Given the description of an element on the screen output the (x, y) to click on. 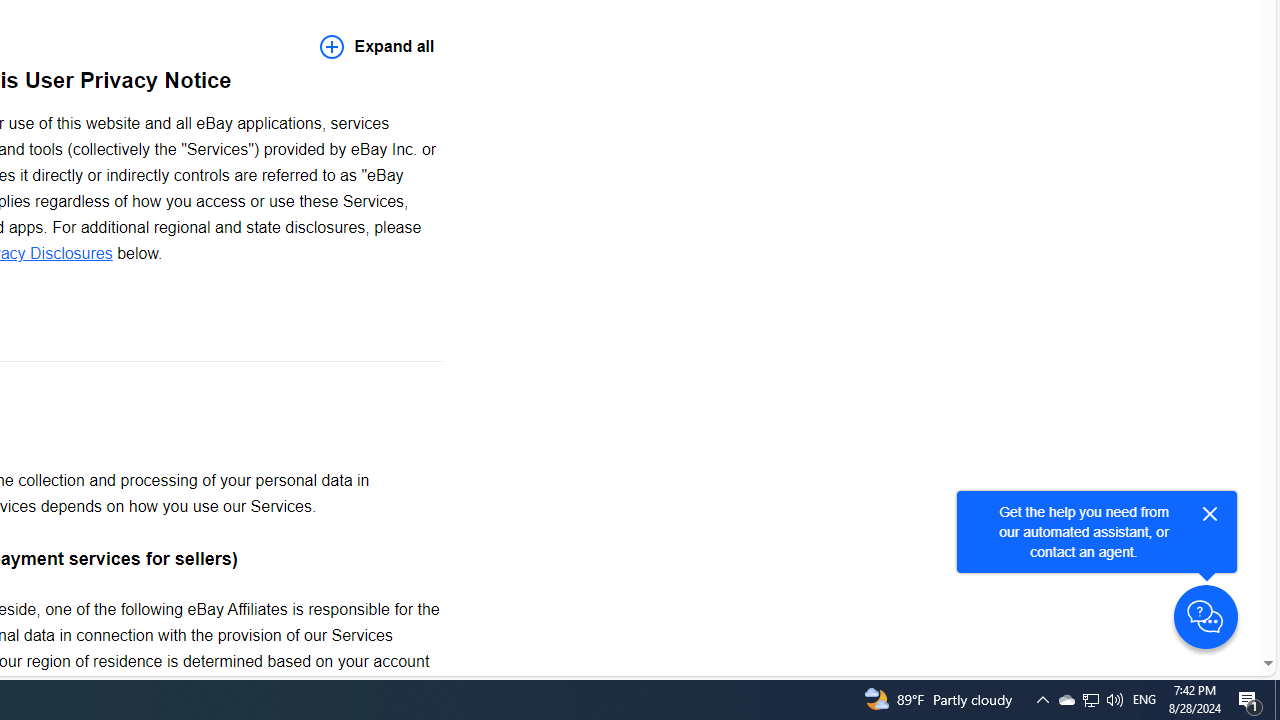
Expand all (377, 45)
